Given the description of an element on the screen output the (x, y) to click on. 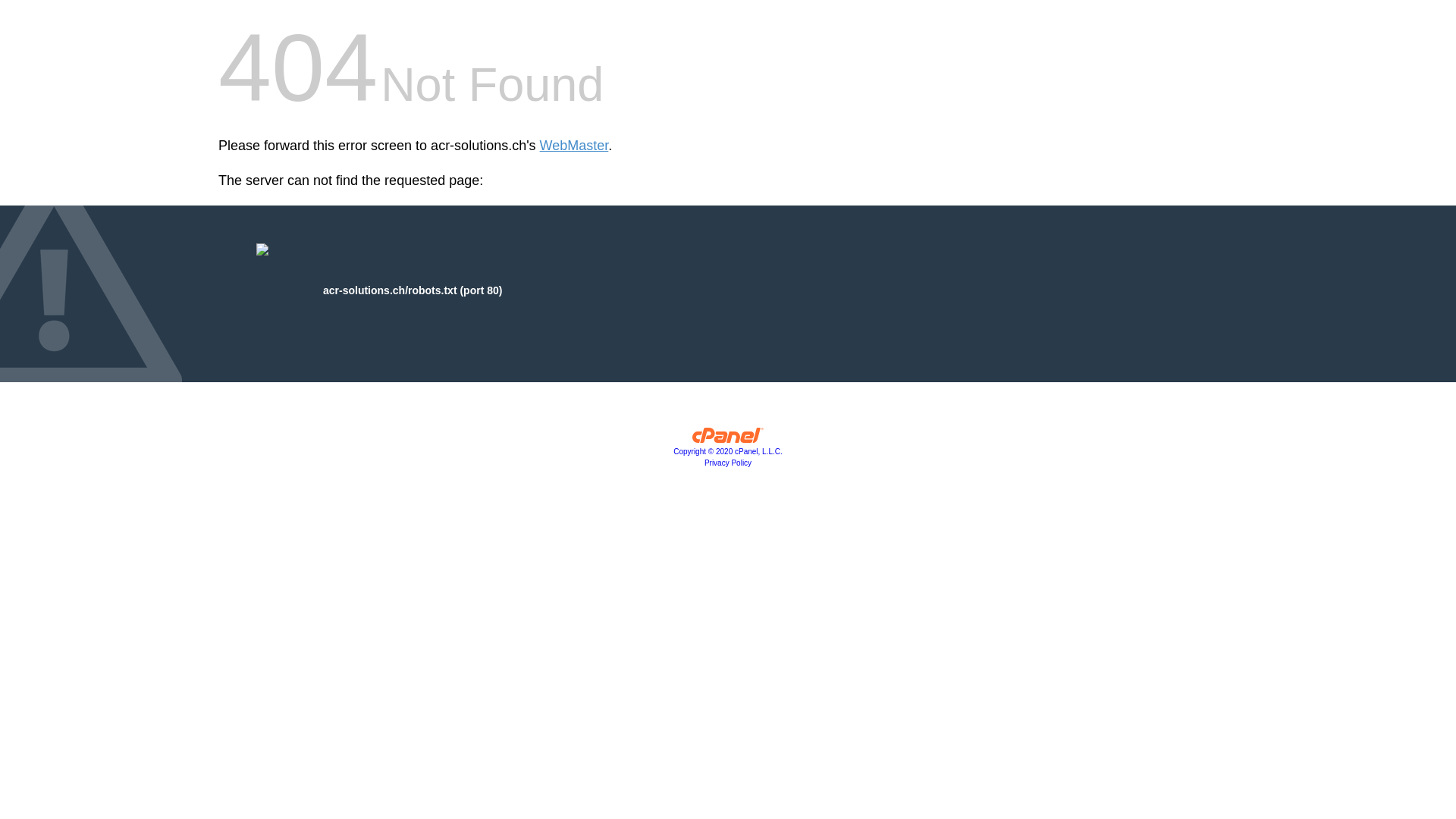
cPanel, Inc. Element type: hover (728, 439)
WebMaster Element type: text (573, 145)
Privacy Policy Element type: text (727, 462)
